Given the description of an element on the screen output the (x, y) to click on. 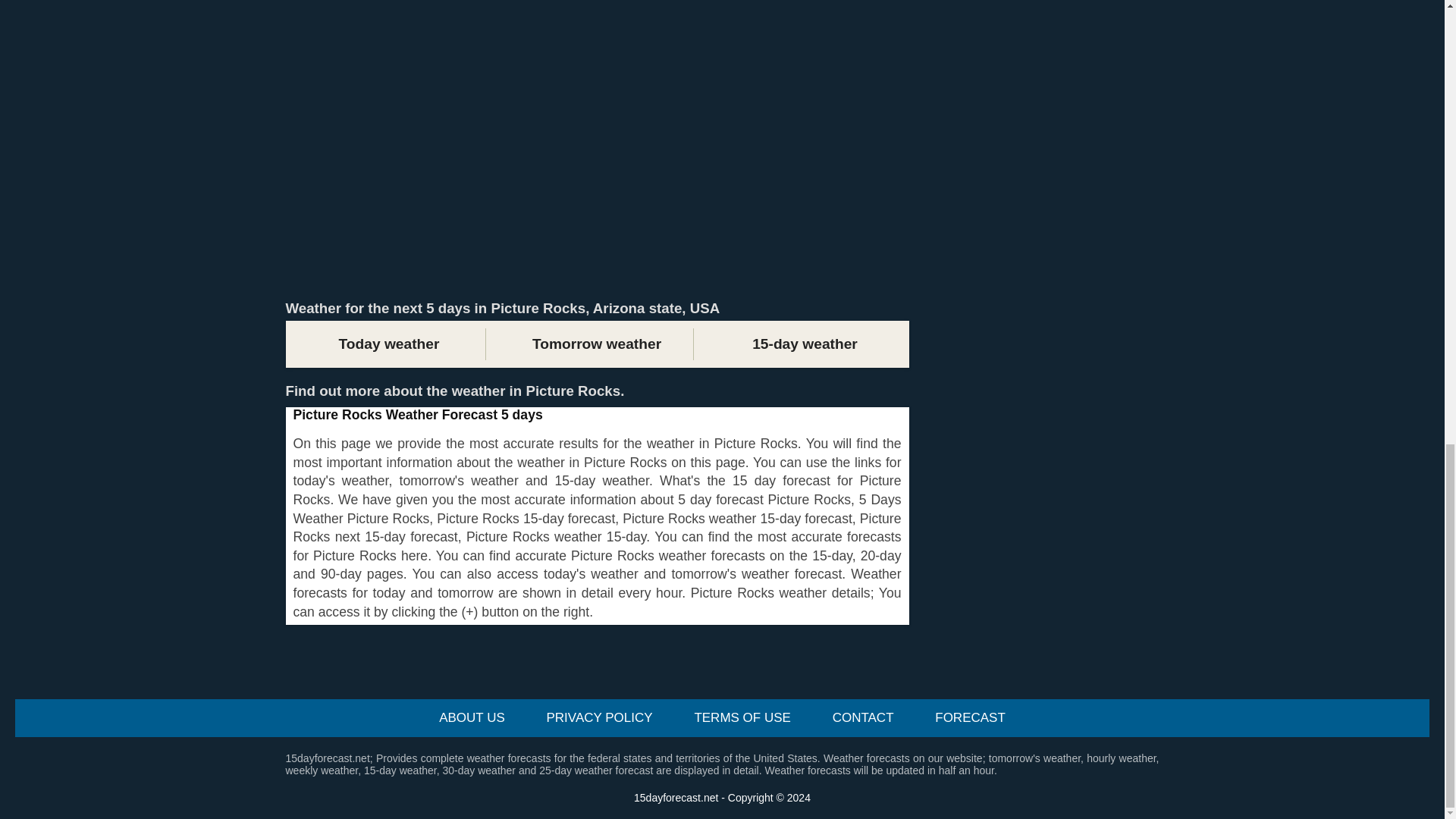
CONTACT (862, 717)
Today weather (388, 344)
PRIVACY POLICY (599, 717)
15-day weather (804, 344)
Tomorrow weather (596, 344)
ABOUT US (472, 717)
Rain Map (596, 34)
TERMS OF USE (742, 717)
